Given the description of an element on the screen output the (x, y) to click on. 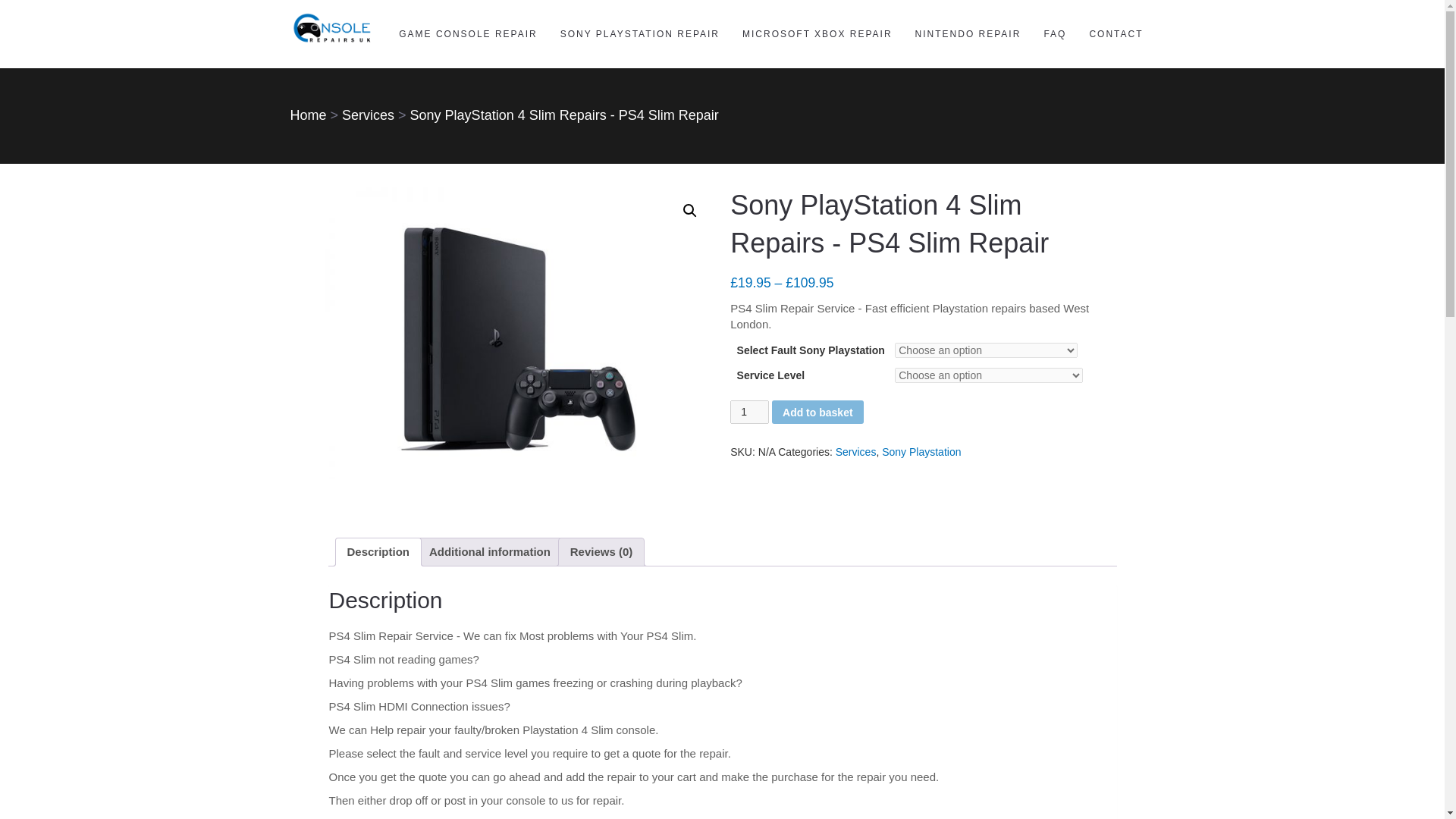
Sony PlayStation 4 Slim Repairs - PS4 Slim Repair (564, 114)
MICROSOFT XBOX REPAIR (817, 33)
Add to basket (817, 412)
NINTENDO REPAIR (968, 33)
ps4slim (519, 332)
CONTACT (1115, 33)
Services (855, 451)
Services (368, 114)
Sony Playstation (921, 451)
1 (749, 412)
GAME CONSOLE REPAIR (467, 33)
Home (307, 114)
Additional information (489, 551)
Description (378, 551)
SONY PLAYSTATION REPAIR (639, 33)
